Given the description of an element on the screen output the (x, y) to click on. 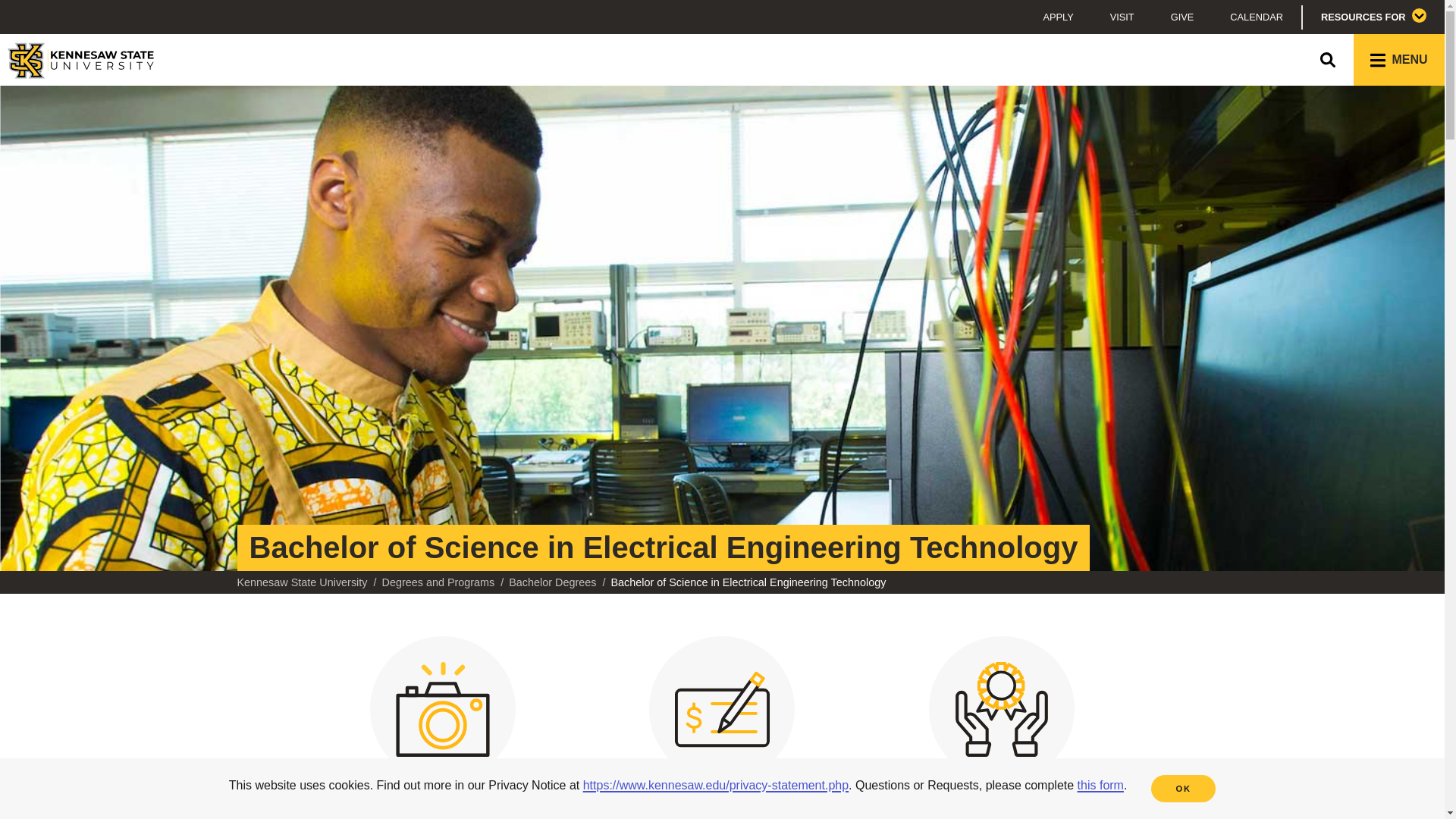
CALENDAR (1256, 17)
VISIT (1122, 17)
Bachelor Degrees (551, 582)
GIVE (1182, 17)
Degrees and Programs (438, 582)
Program Snapshot (443, 720)
Salary and Careers (721, 720)
Kennesaw State University (300, 582)
APPLY (1057, 17)
Program Benefits (1001, 720)
